Given the description of an element on the screen output the (x, y) to click on. 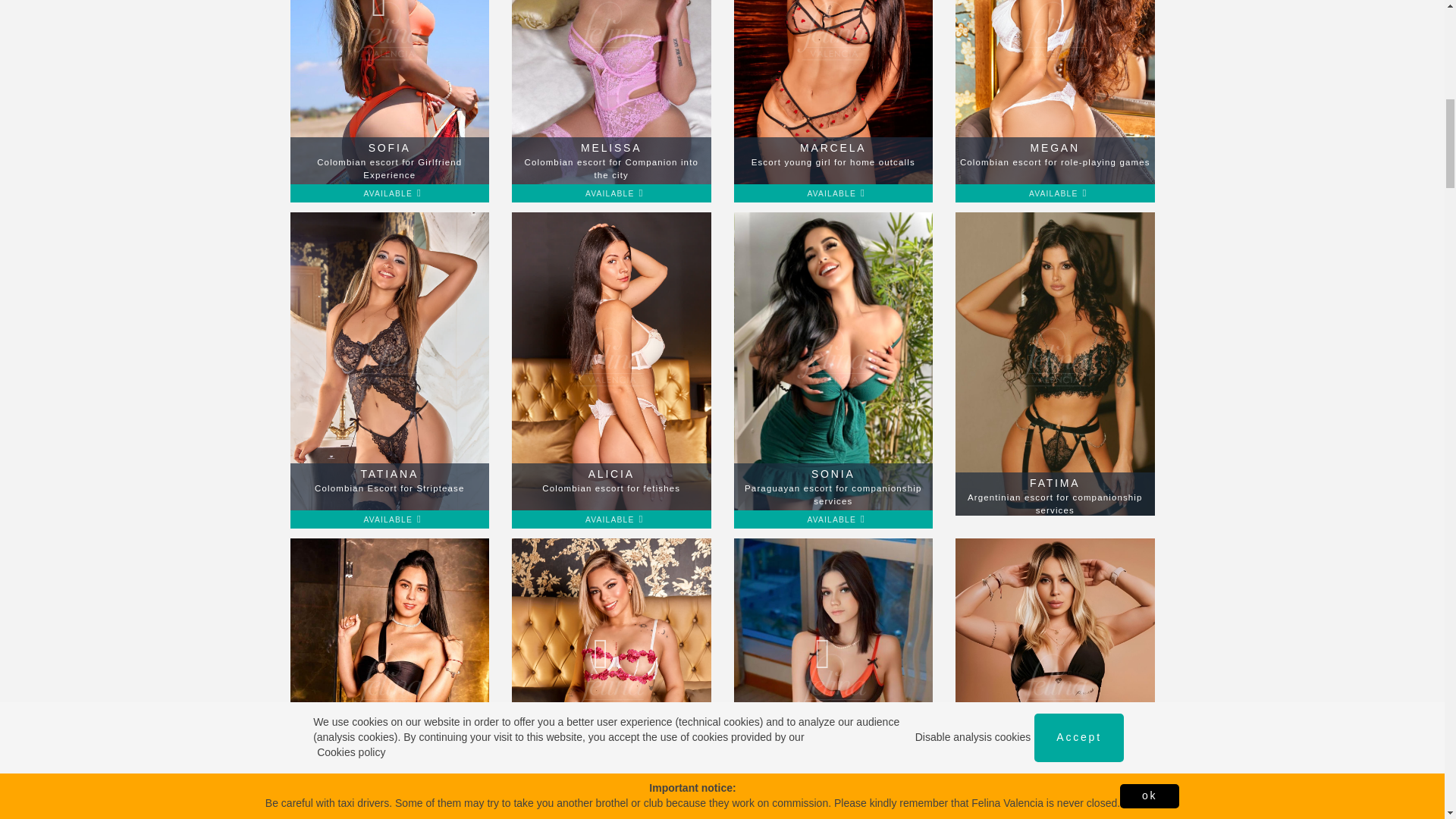
Marcela (1054, 94)
Melissa (833, 94)
Sofia (833, 94)
Megan (611, 94)
